Given the description of an element on the screen output the (x, y) to click on. 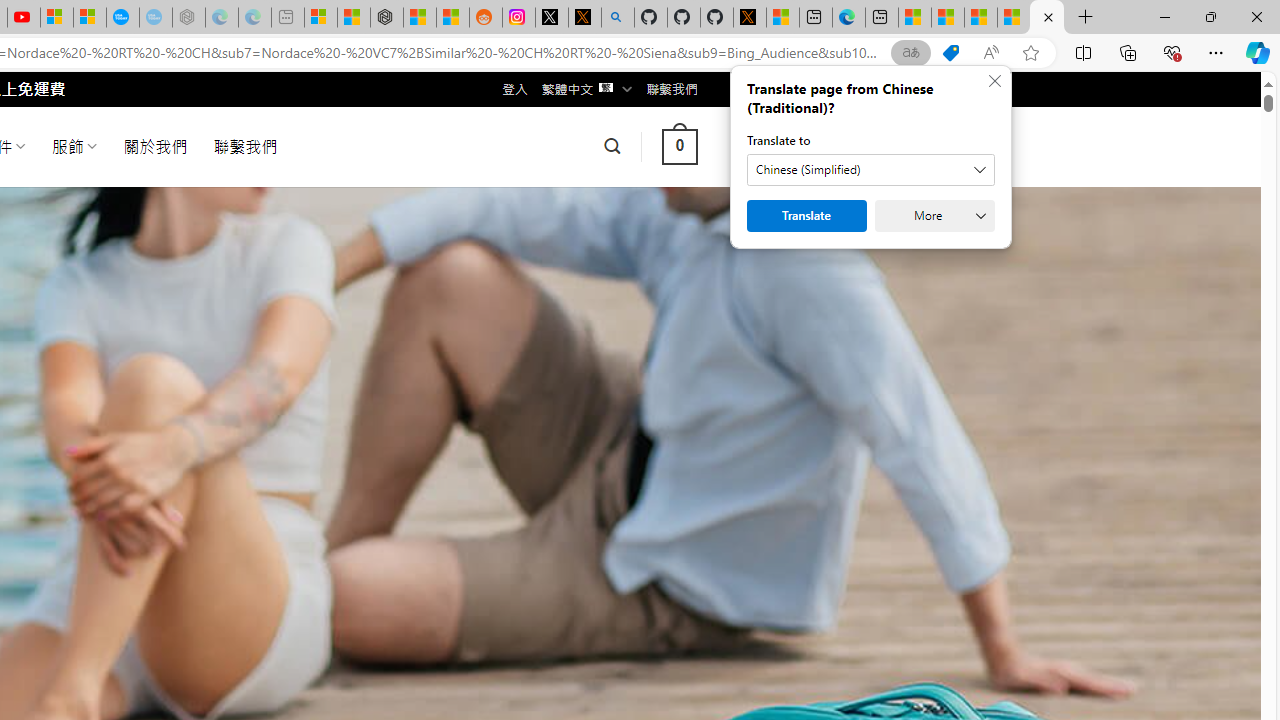
help.x.com | 524: A timeout occurred (585, 17)
Nordace - Nordace has arrived Hong Kong - Sleeping (188, 17)
Add this page to favorites (Ctrl+D) (1030, 53)
Translate (806, 215)
Log in to X / X (552, 17)
New tab - Sleeping (287, 17)
